Given the description of an element on the screen output the (x, y) to click on. 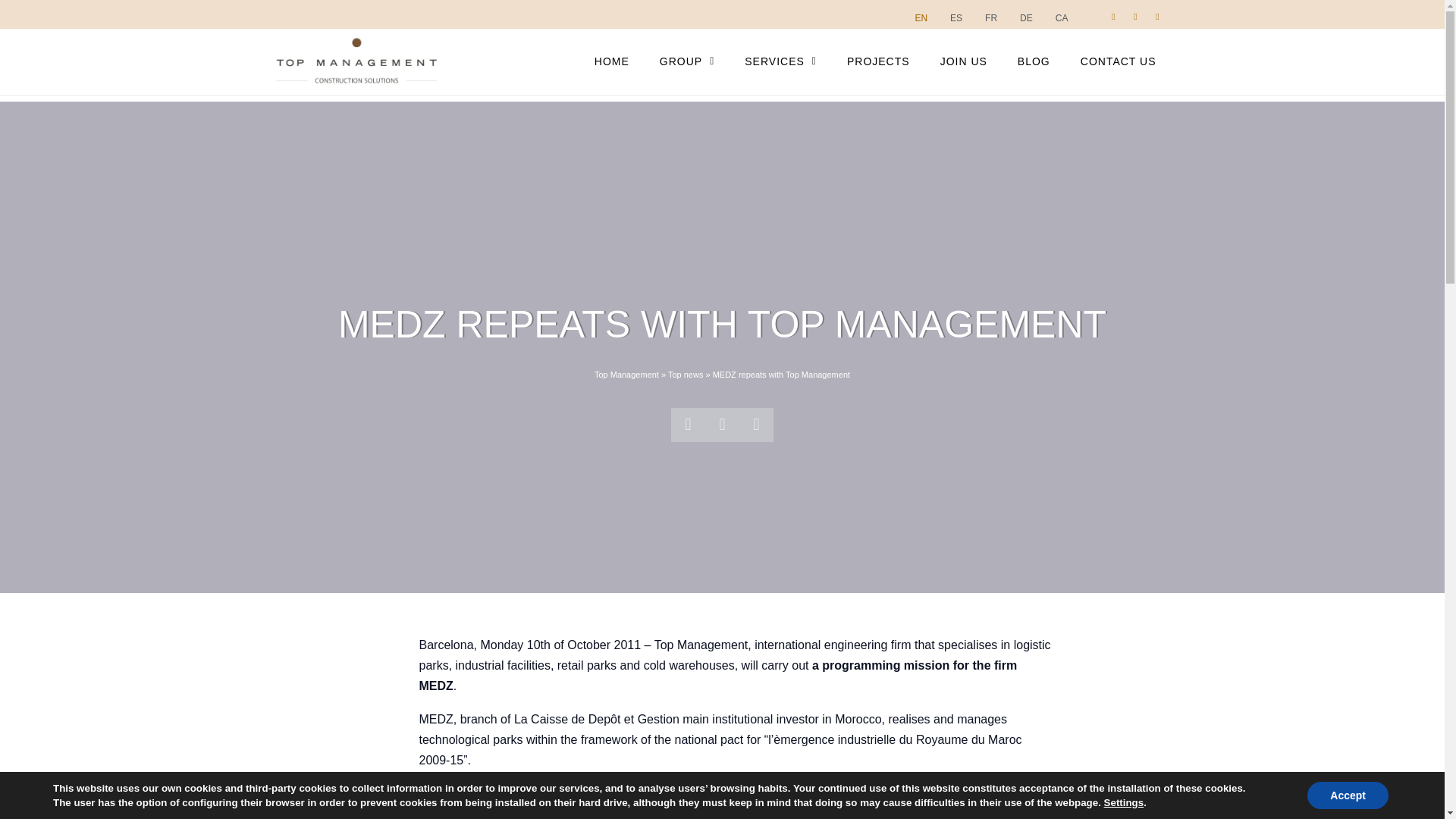
CONTACT US (1118, 60)
SERVICES (780, 60)
CA (1058, 17)
FR (986, 17)
JOIN US (963, 60)
BLOG (1034, 60)
GROUP (687, 60)
PROJECTS (877, 60)
ES (951, 17)
HOME (612, 60)
DE (1022, 17)
EN (916, 17)
